Given the description of an element on the screen output the (x, y) to click on. 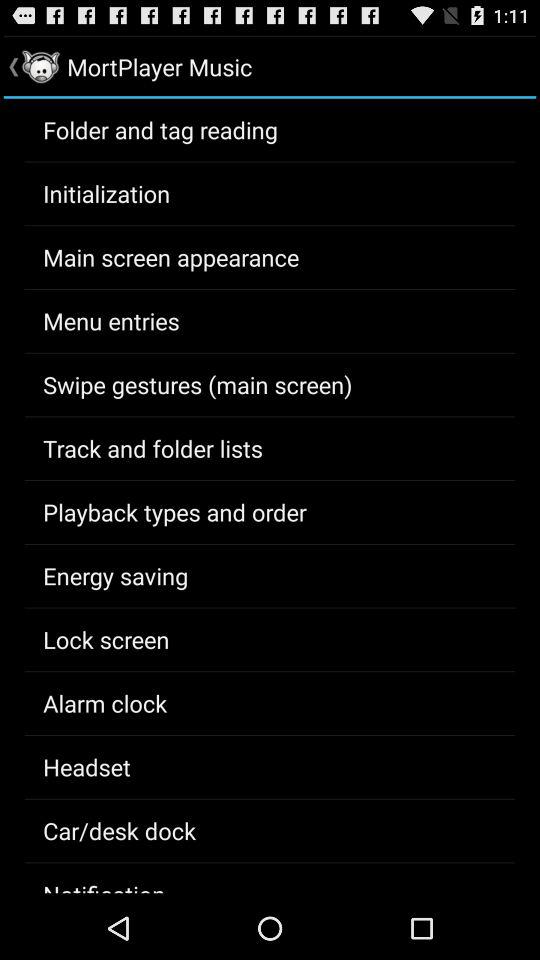
choose the item above main screen appearance item (106, 193)
